Given the description of an element on the screen output the (x, y) to click on. 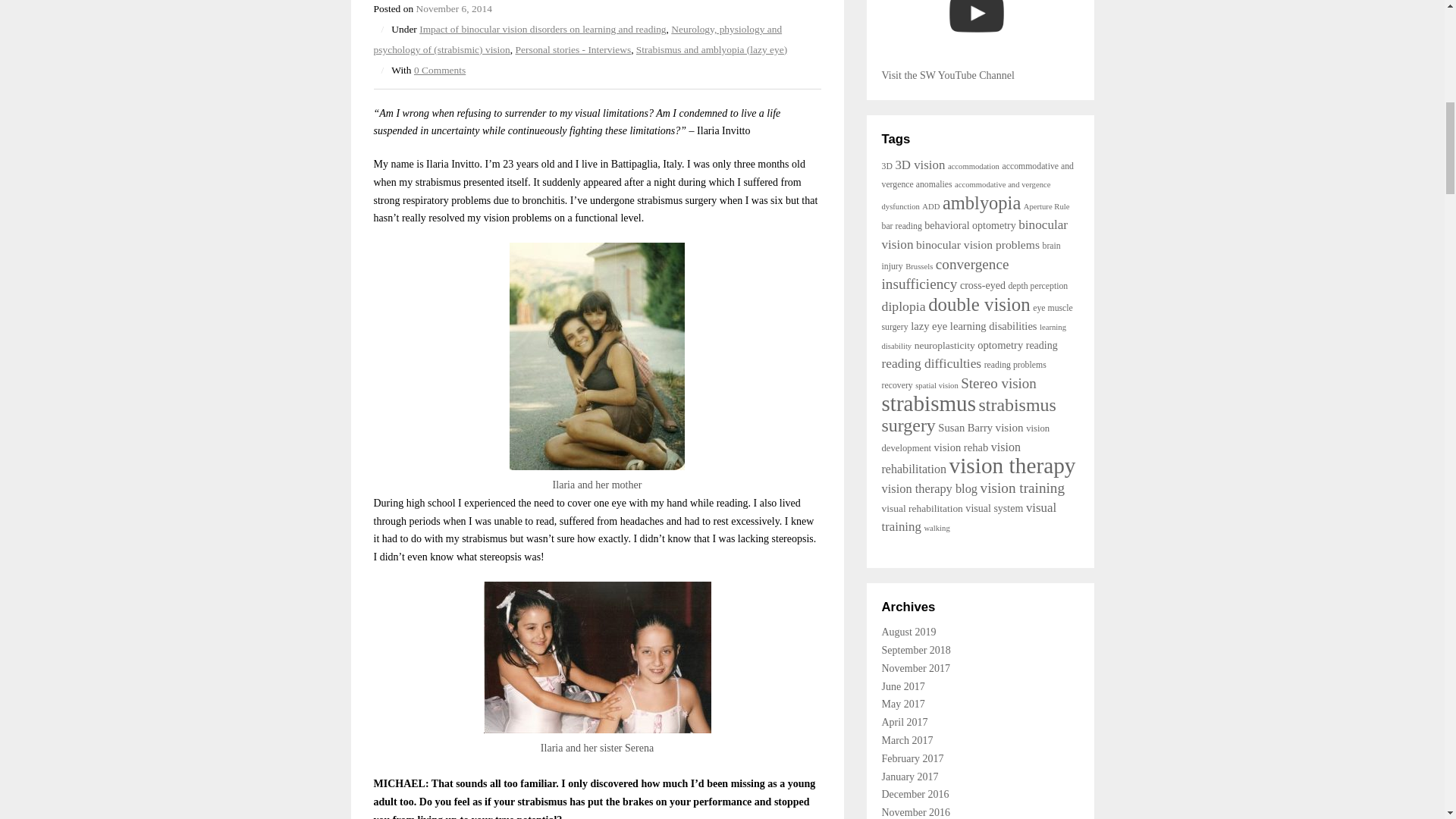
Impact of binocular vision disorders on learning and reading (542, 29)
Personal stories - Interviews (572, 49)
0 Comments (439, 70)
Personal stories - Interviews (572, 49)
Vision Therapy Concepts - Accommodation and Vergence (975, 33)
Impact of binocular vision disorders on learning and reading (542, 29)
